Given the description of an element on the screen output the (x, y) to click on. 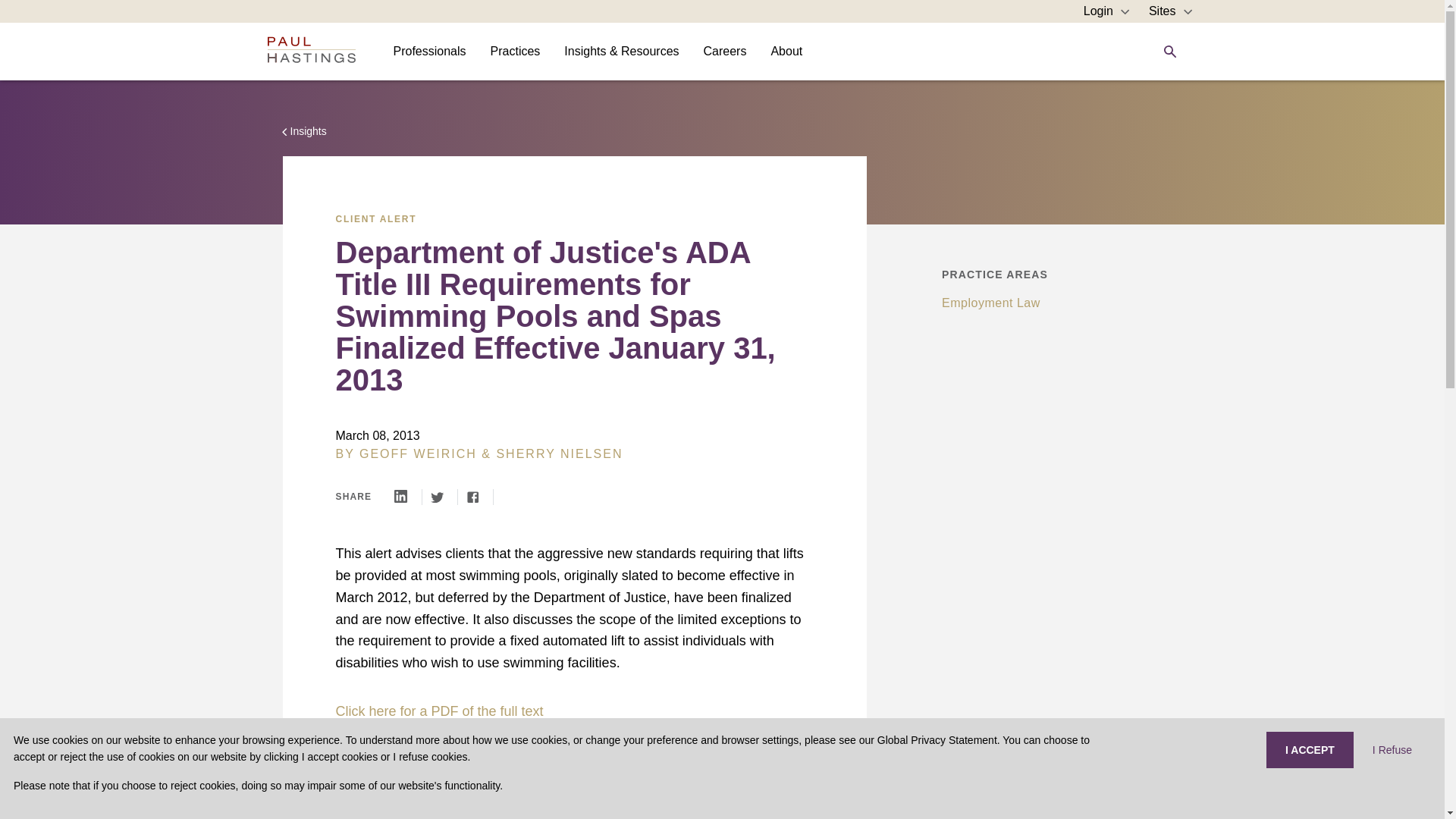
Practices (516, 50)
Professionals (428, 50)
About (785, 50)
Careers (724, 50)
